Given the description of an element on the screen output the (x, y) to click on. 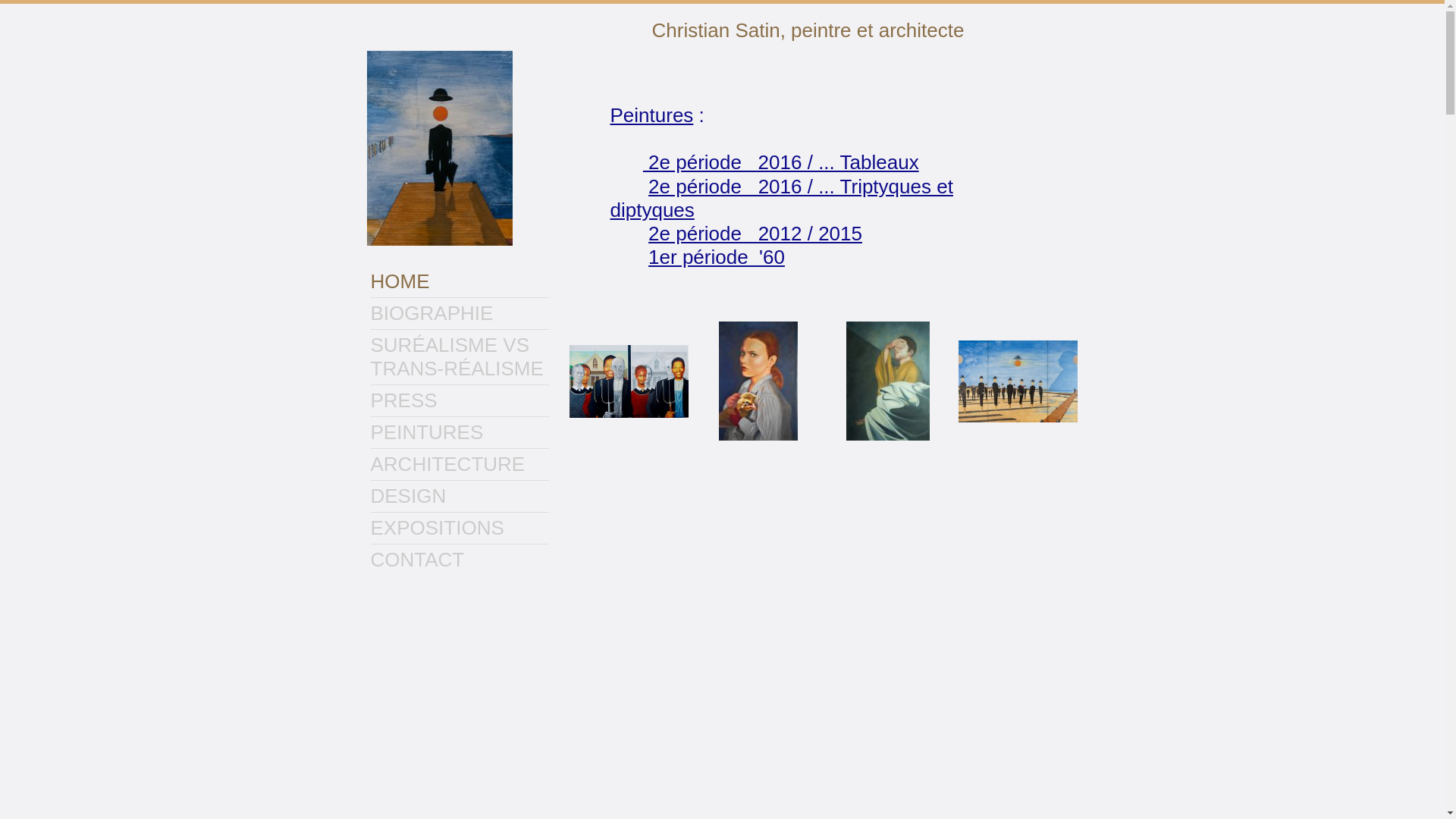
DESIGN Element type: text (459, 495)
Peintures Element type: text (651, 114)
PRESS Element type: text (459, 400)
CONTACT Element type: text (459, 559)
ARCHITECTURE Element type: text (459, 464)
X34 2014 Surrealist cemetery-o Element type: hover (1017, 381)
X34 2014 Surrealist cemetery-o Element type: hover (1017, 380)
BIOGRAPHIE Element type: text (459, 313)
HOME Element type: text (459, 281)
PEINTURES Element type: text (459, 432)
EXPOSITIONS Element type: text (459, 527)
